Given the description of an element on the screen output the (x, y) to click on. 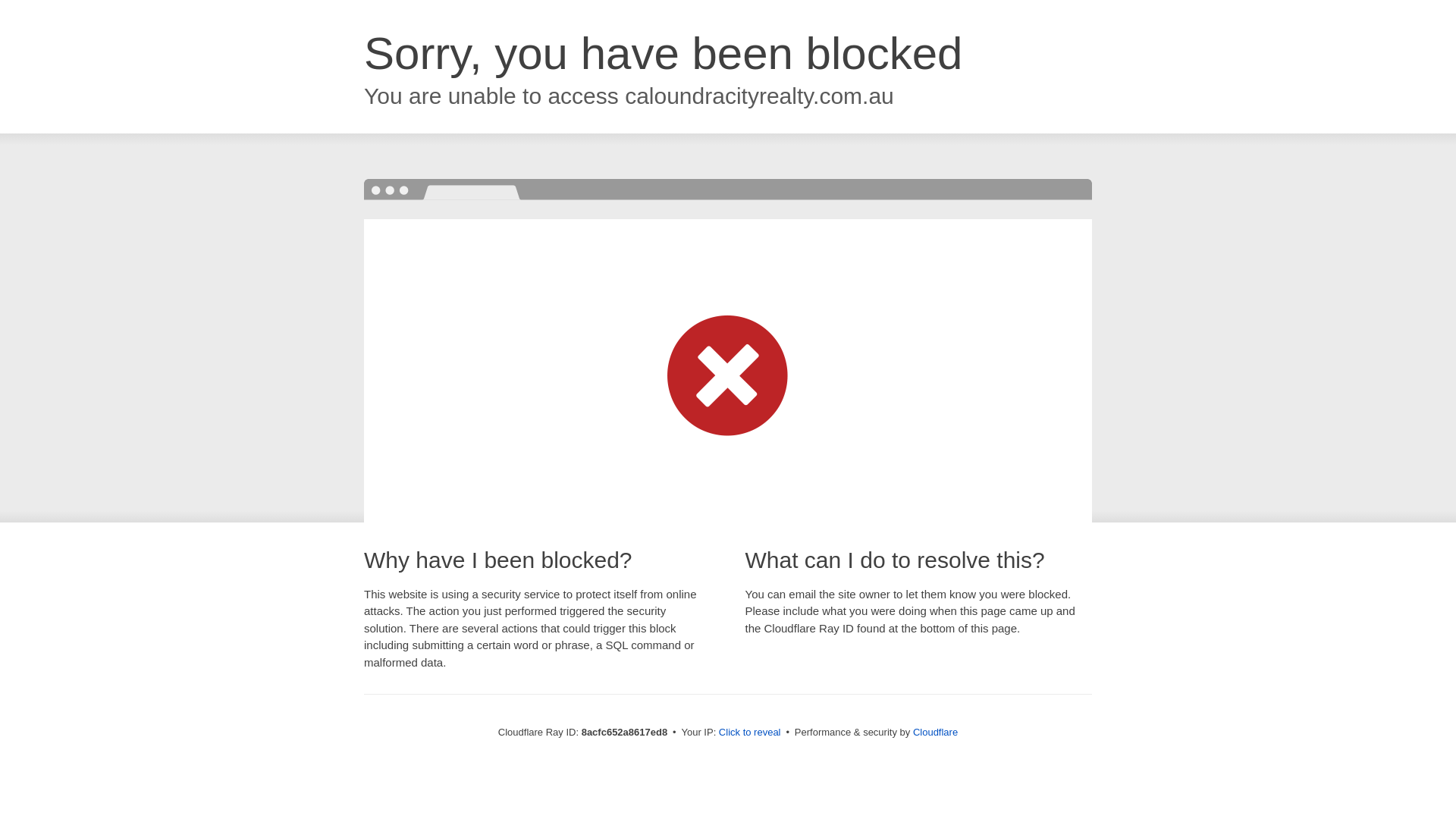
Click to reveal (749, 732)
Cloudflare (935, 731)
